Given the description of an element on the screen output the (x, y) to click on. 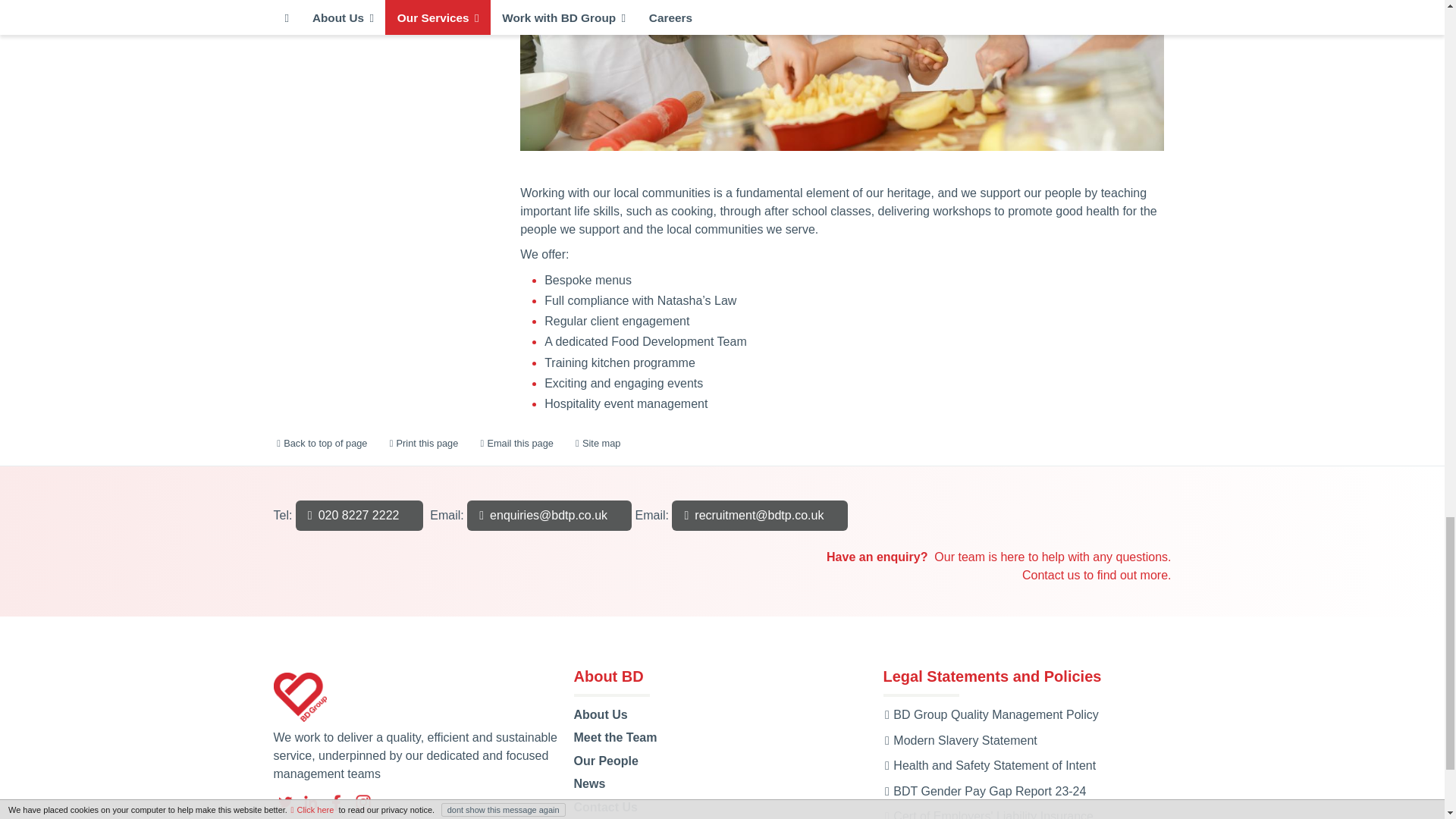
download this document in a new window (959, 739)
download this document in a new window (987, 814)
download this document in a new window (989, 714)
download this document in a new window (989, 765)
download this document in a new window (984, 790)
